Given the description of an element on the screen output the (x, y) to click on. 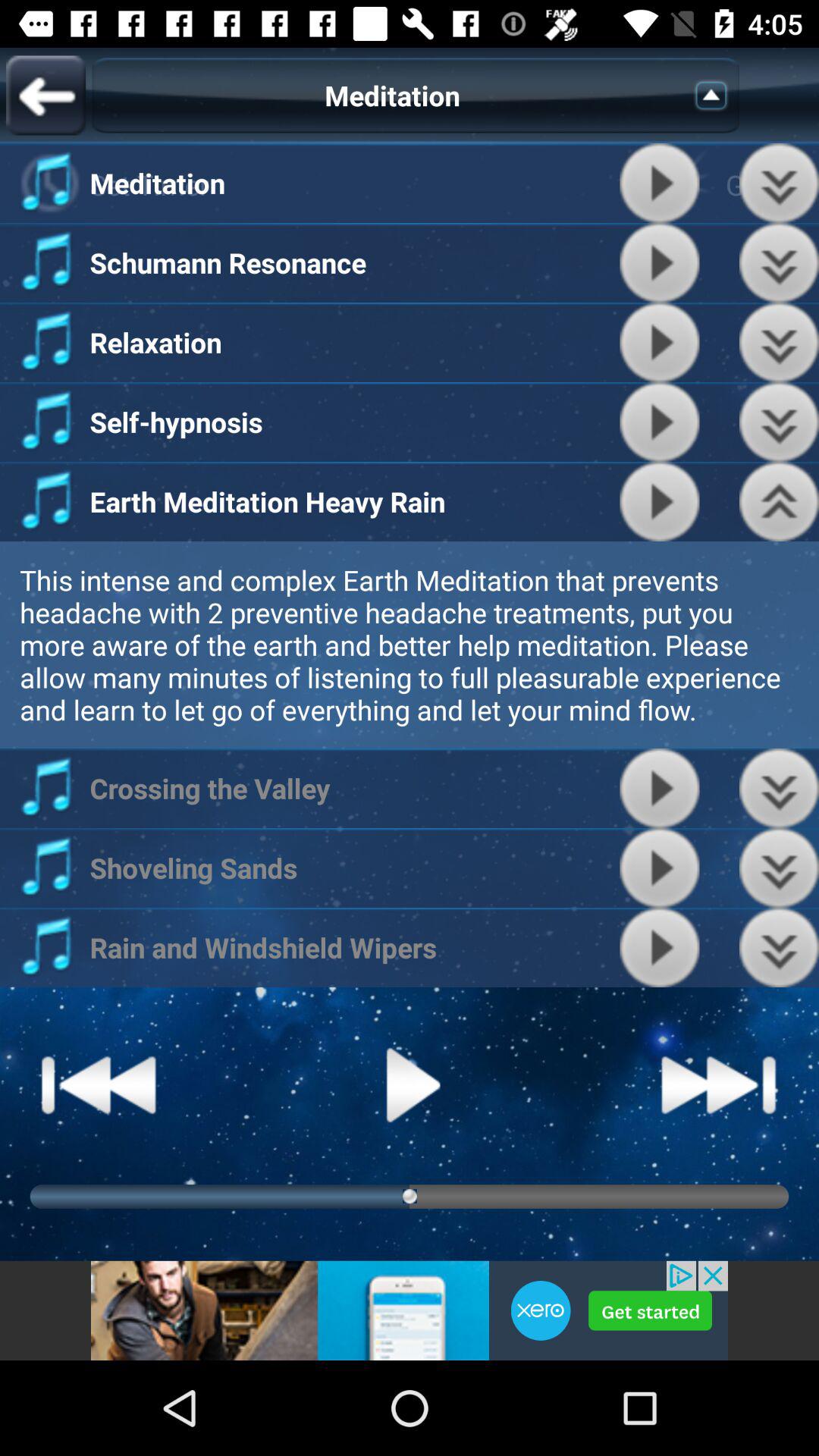
select the play (659, 867)
